Given the description of an element on the screen output the (x, y) to click on. 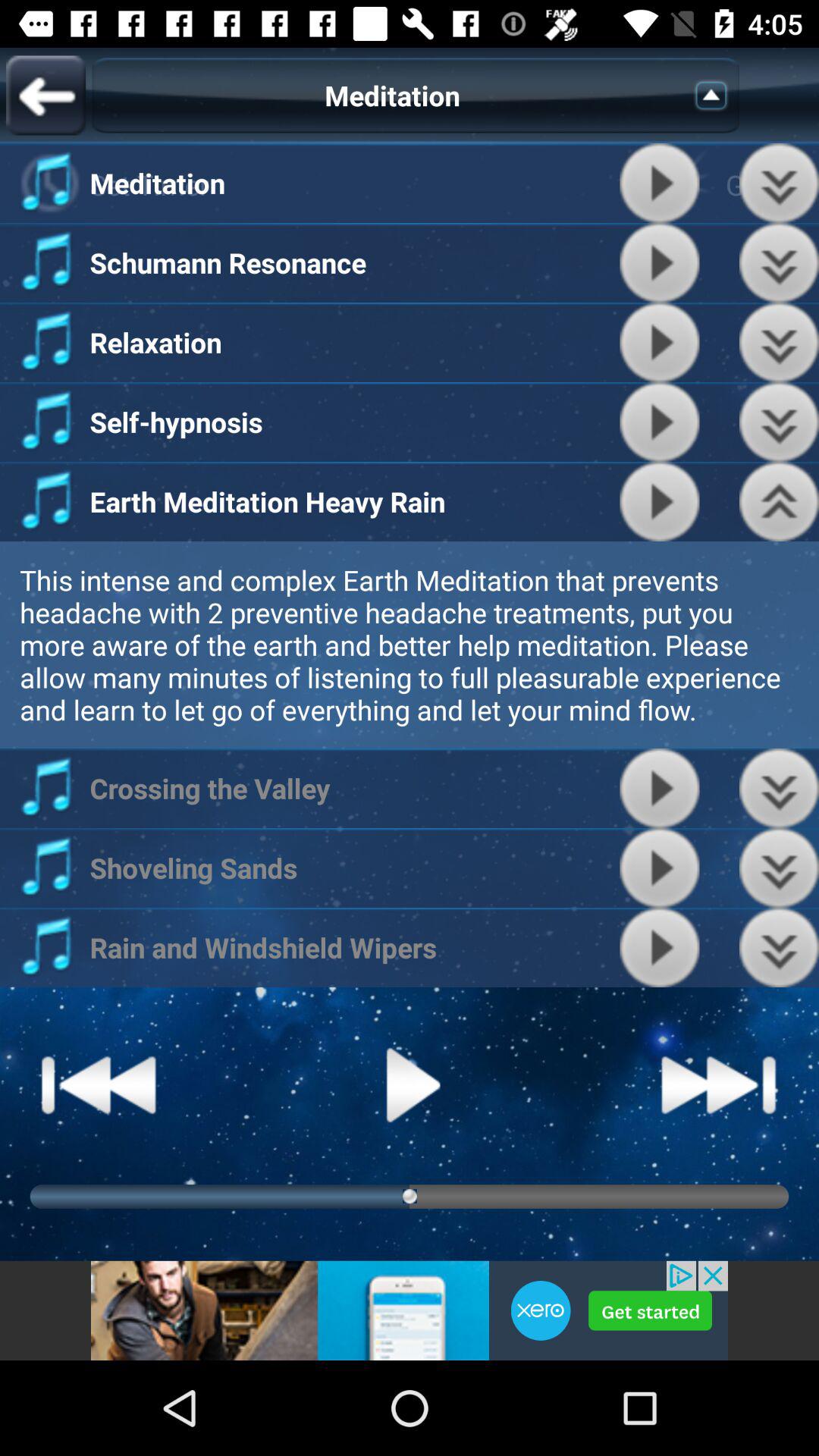
select the play (659, 867)
